Given the description of an element on the screen output the (x, y) to click on. 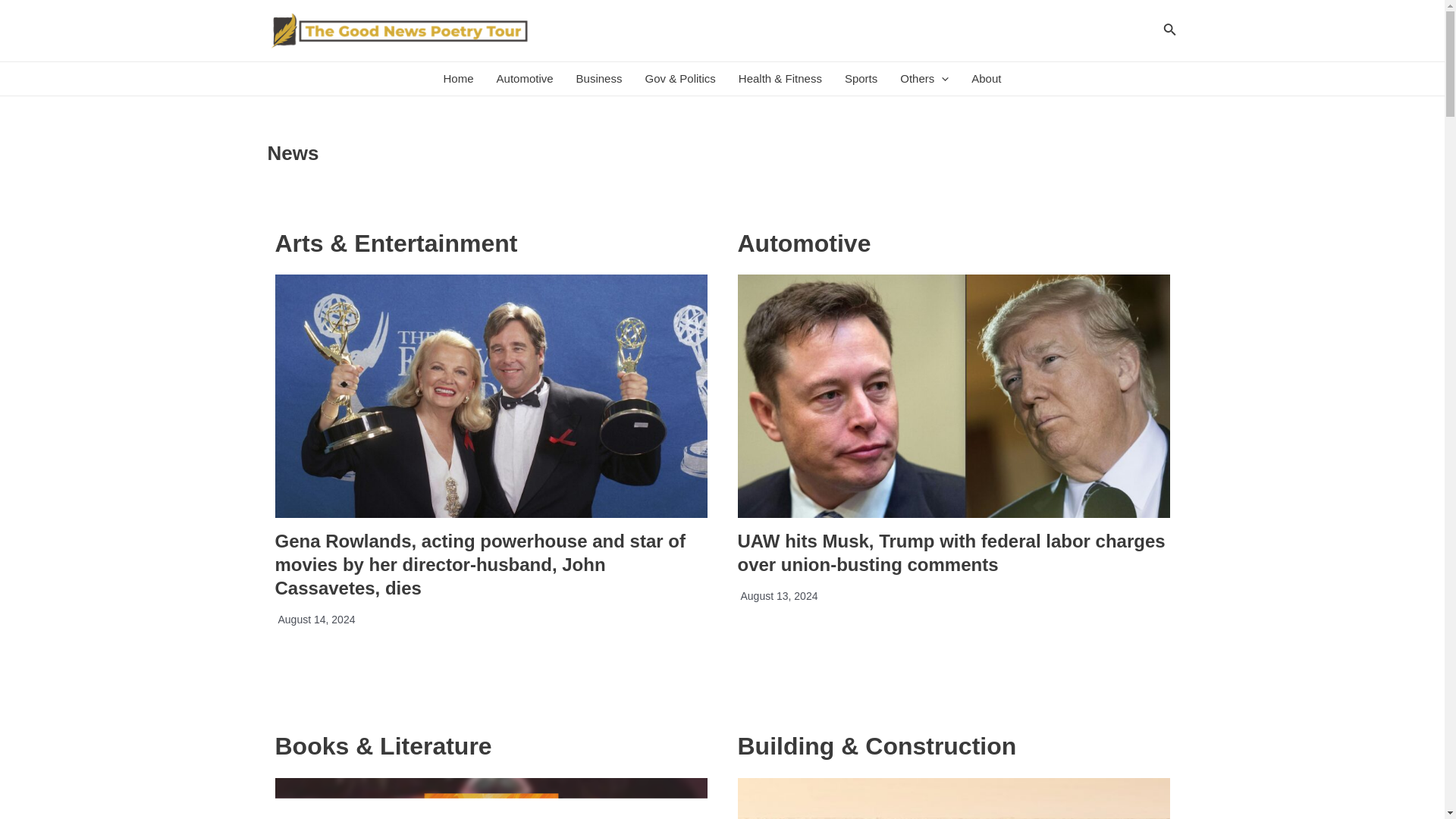
Home (458, 78)
Sports (860, 78)
Automotive (524, 78)
Business (598, 78)
About (985, 78)
Others (923, 78)
